Given the description of an element on the screen output the (x, y) to click on. 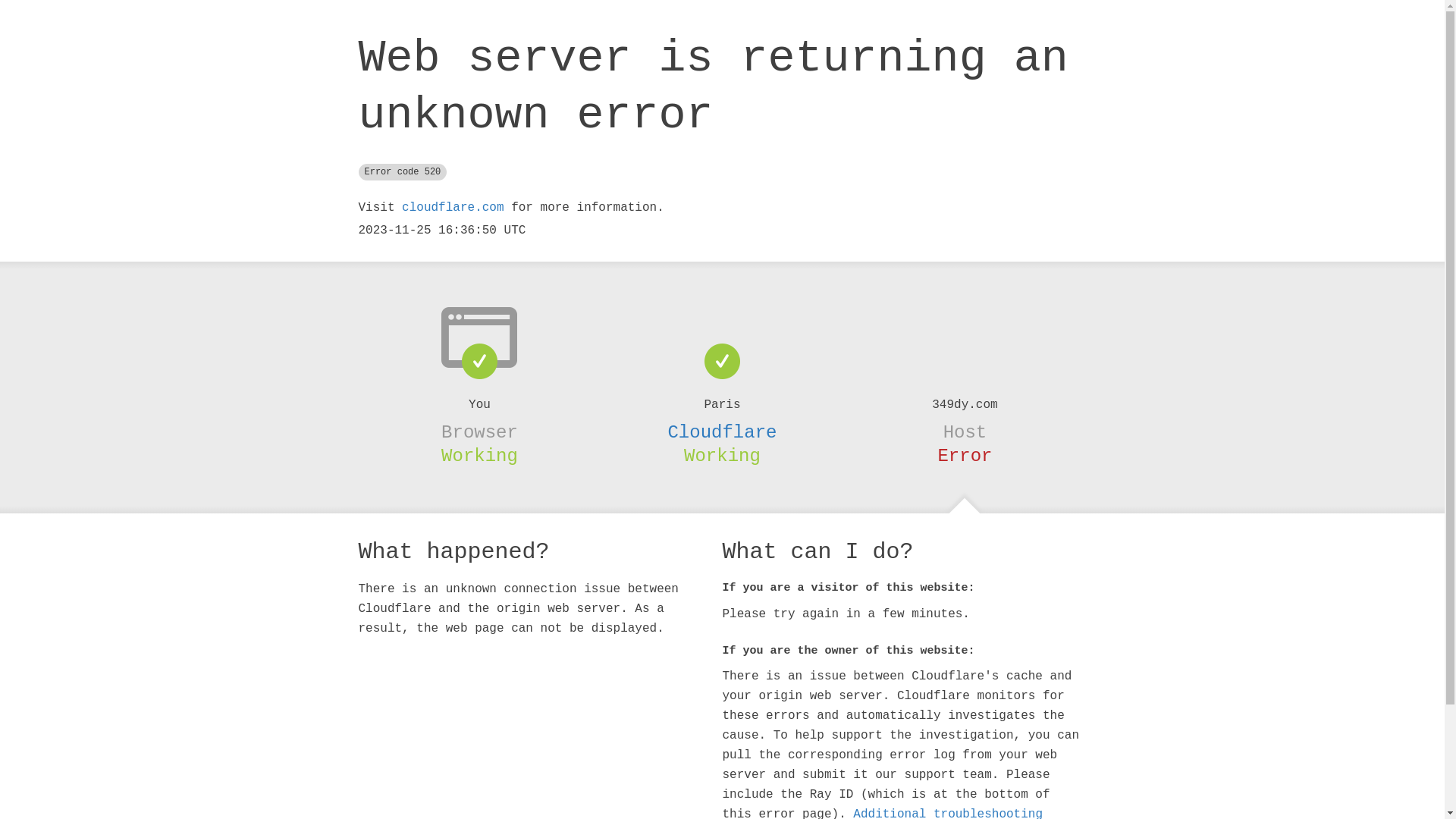
cloudflare.com Element type: text (452, 207)
Cloudflare Element type: text (721, 432)
